Given the description of an element on the screen output the (x, y) to click on. 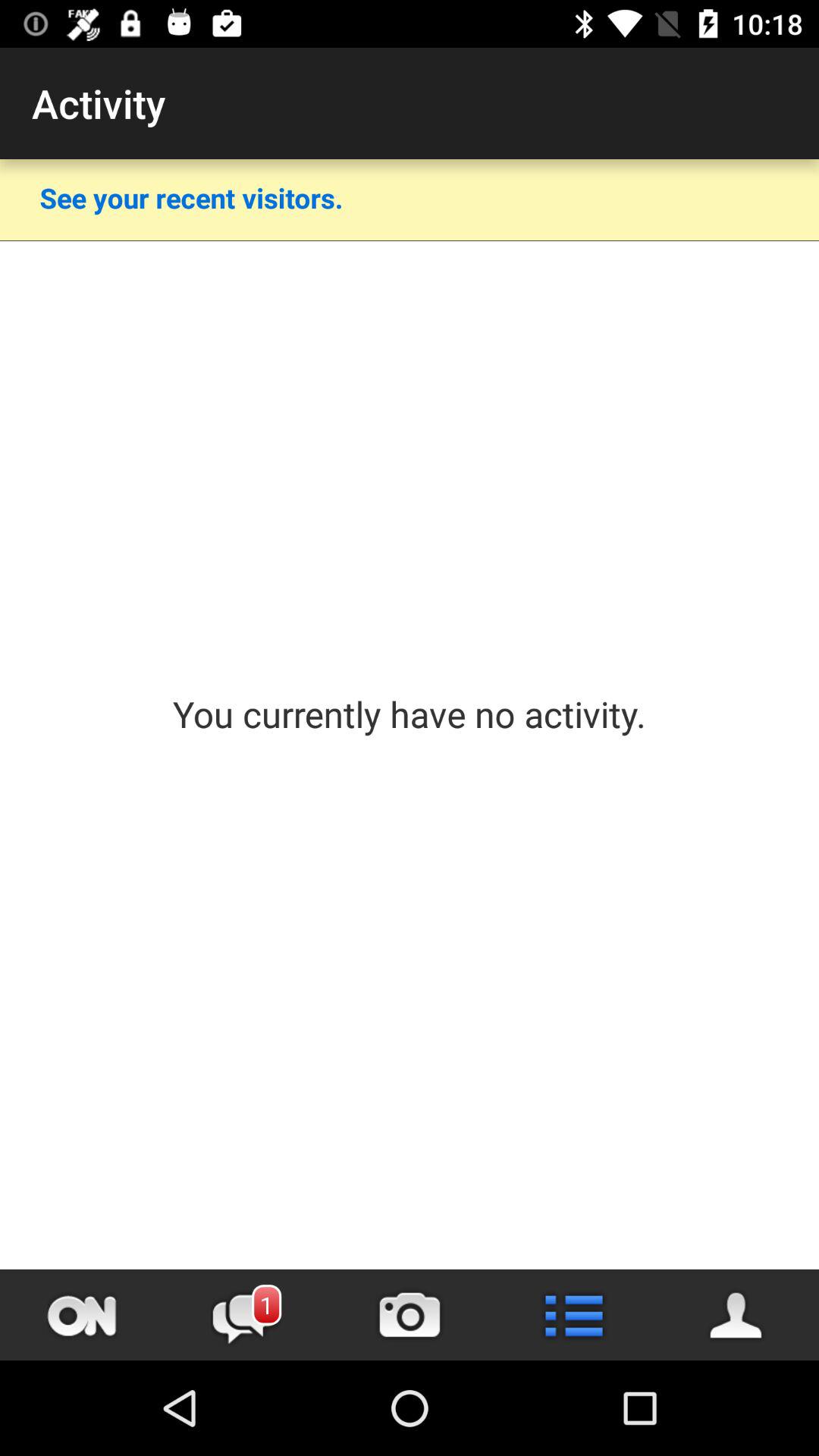
take a picture (409, 1315)
